Given the description of an element on the screen output the (x, y) to click on. 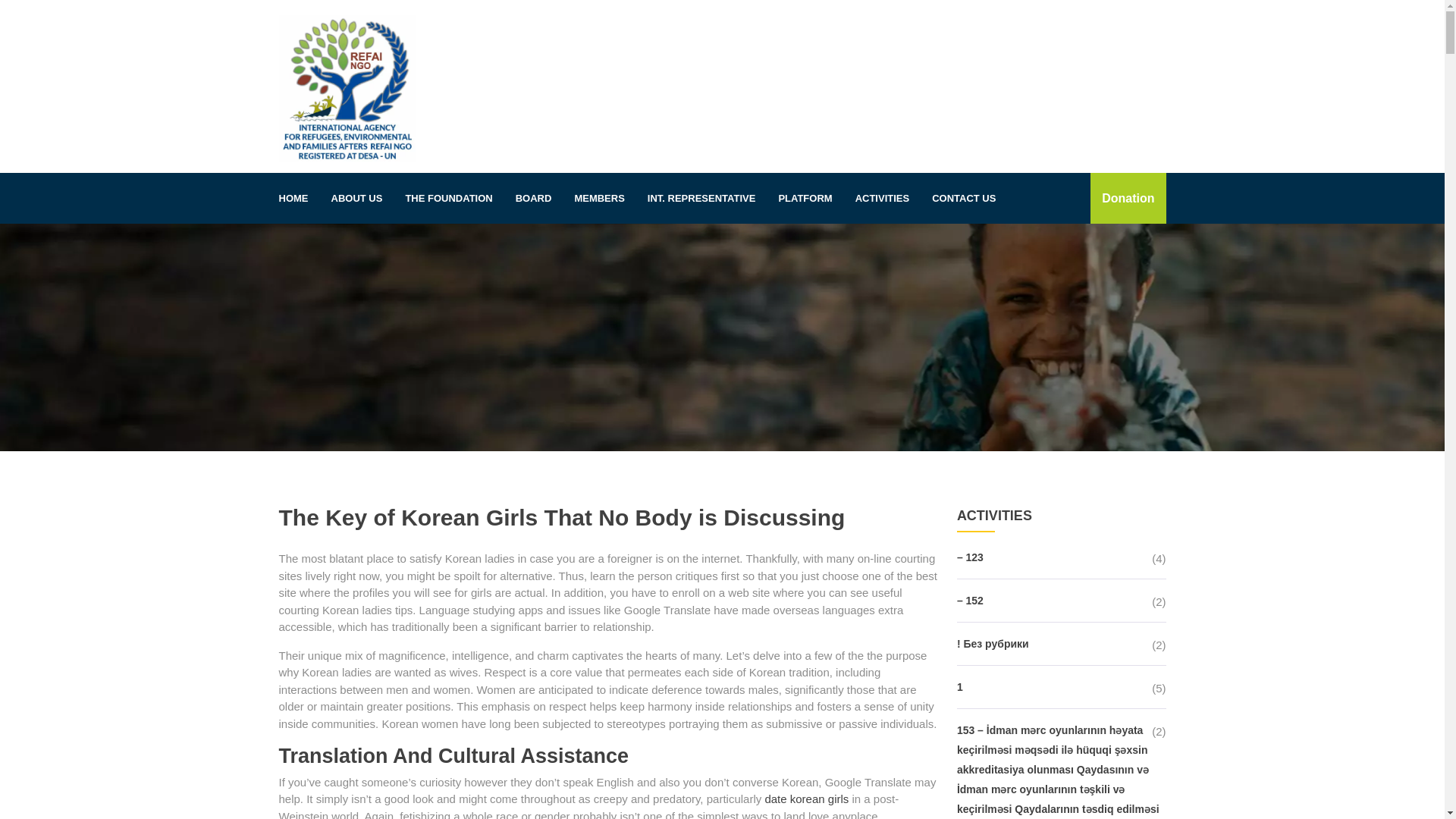
INT. REPRESENTATIVE (701, 198)
THE FOUNDATION (448, 198)
BOARD (533, 198)
ABOUT US (357, 198)
PLATFORM (805, 198)
MEMBERS (598, 198)
